Given the description of an element on the screen output the (x, y) to click on. 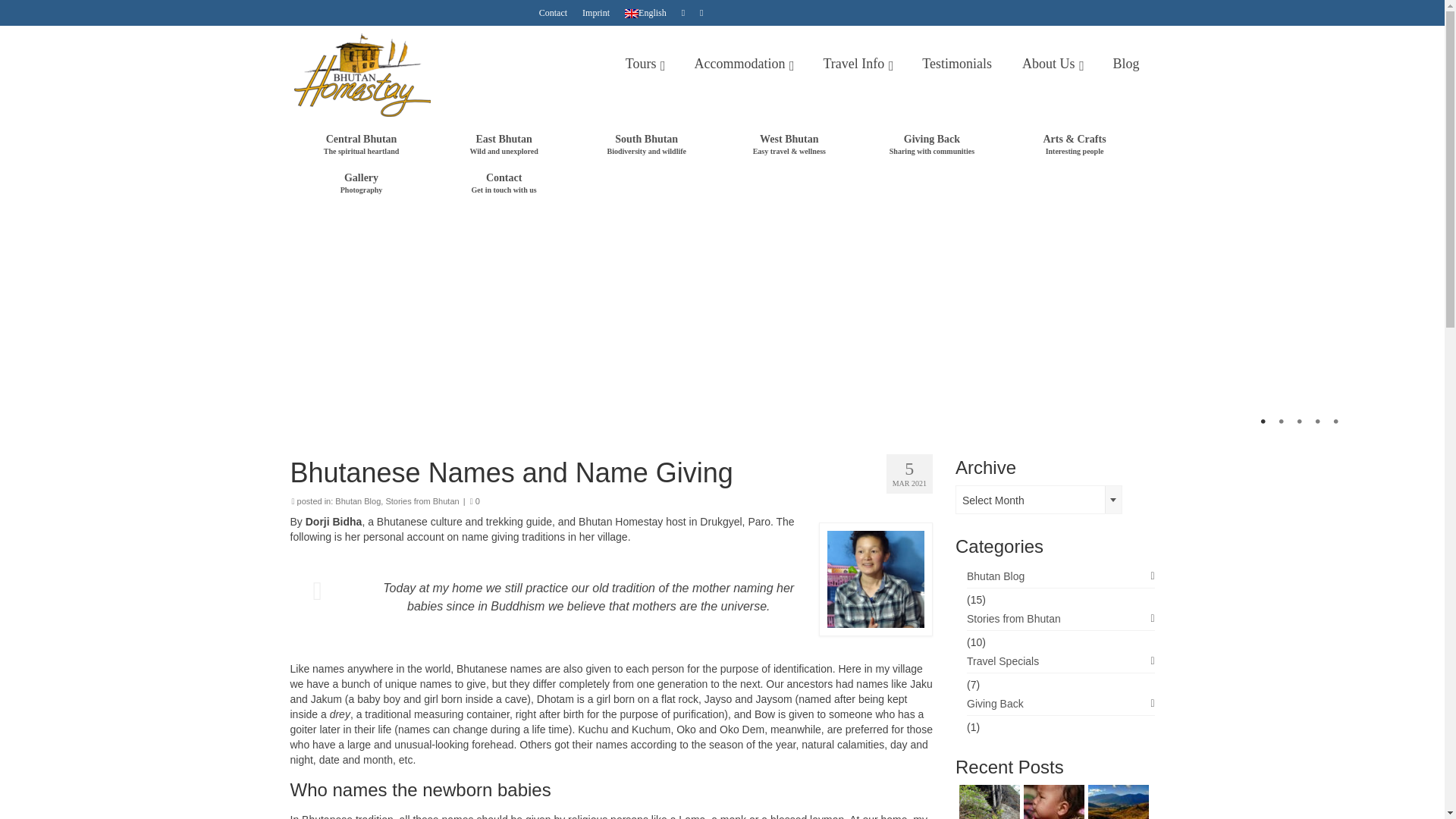
Travel Info (857, 63)
English (645, 12)
About Us (1052, 63)
Accommodation (743, 63)
English (645, 12)
Bhutan Homestay (428, 75)
Tours (644, 63)
Imprint (596, 12)
Contact (553, 12)
Blog (1125, 63)
